Given the description of an element on the screen output the (x, y) to click on. 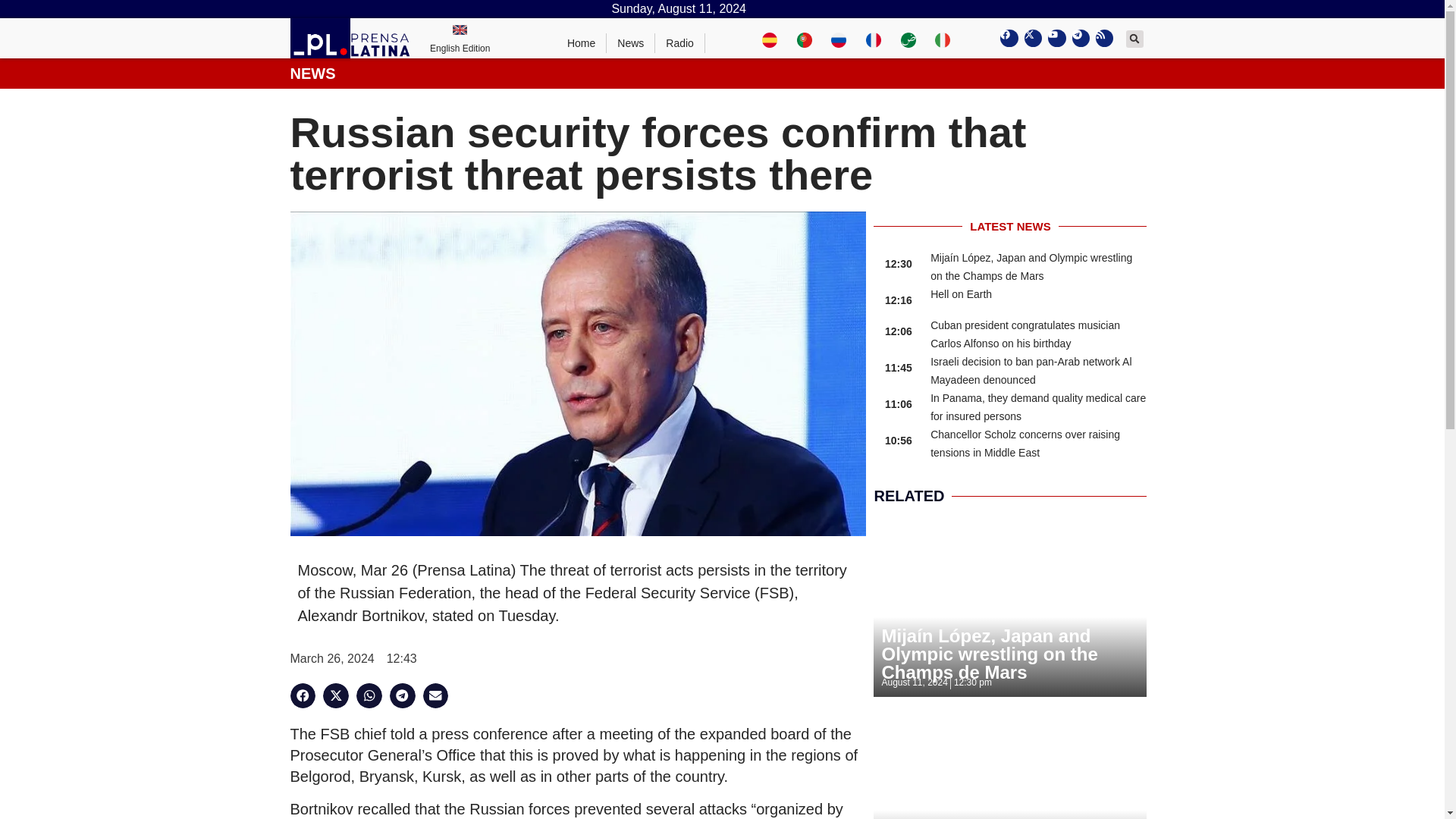
Hell on Earth (960, 294)
francia (873, 38)
Home (581, 43)
Radio (679, 43)
Arabic lang (908, 38)
March 26, 2024 (331, 659)
rusia (838, 38)
portugues (804, 38)
